Given the description of an element on the screen output the (x, y) to click on. 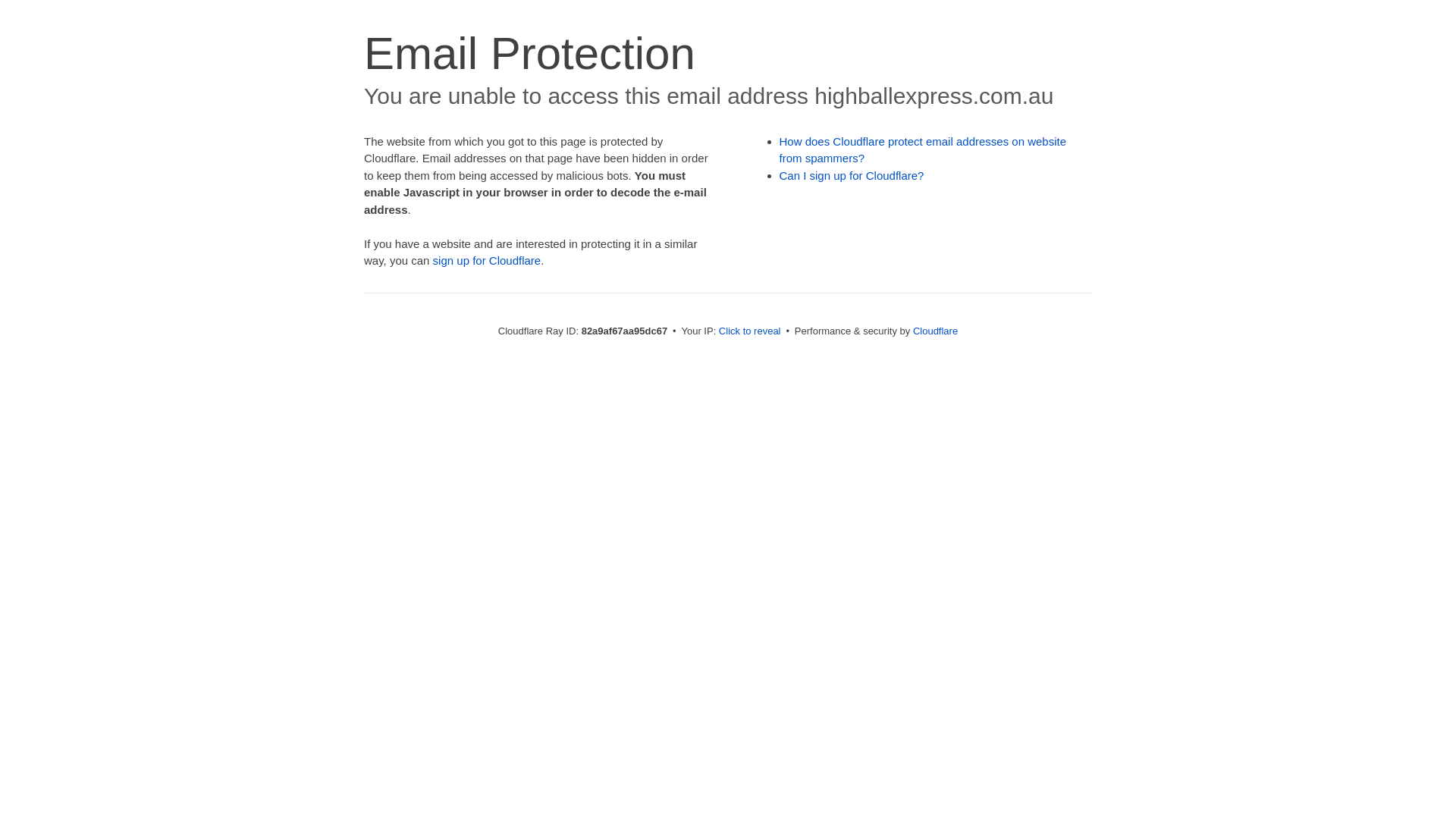
Cloudflare Element type: text (935, 330)
sign up for Cloudflare Element type: text (487, 260)
Click to reveal Element type: text (749, 330)
Can I sign up for Cloudflare? Element type: text (851, 175)
